Given the description of an element on the screen output the (x, y) to click on. 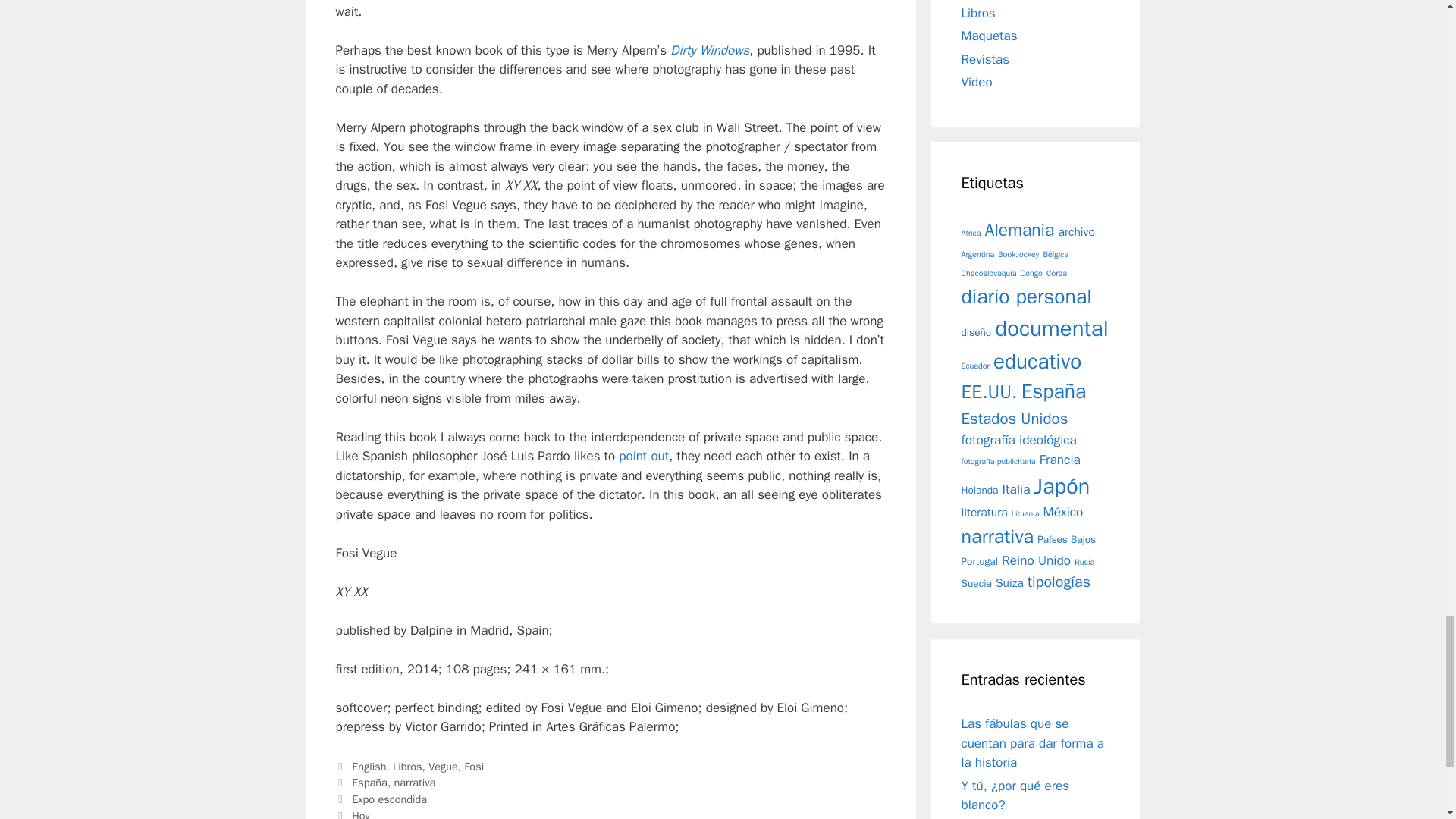
Libros (407, 766)
point out (643, 455)
Vegue, Fosi (455, 766)
Anterior (380, 798)
Siguiente (351, 814)
narrativa (414, 782)
Expo escondida (389, 798)
English (368, 766)
Hoy (360, 814)
Dirty Windows (709, 50)
